Given the description of an element on the screen output the (x, y) to click on. 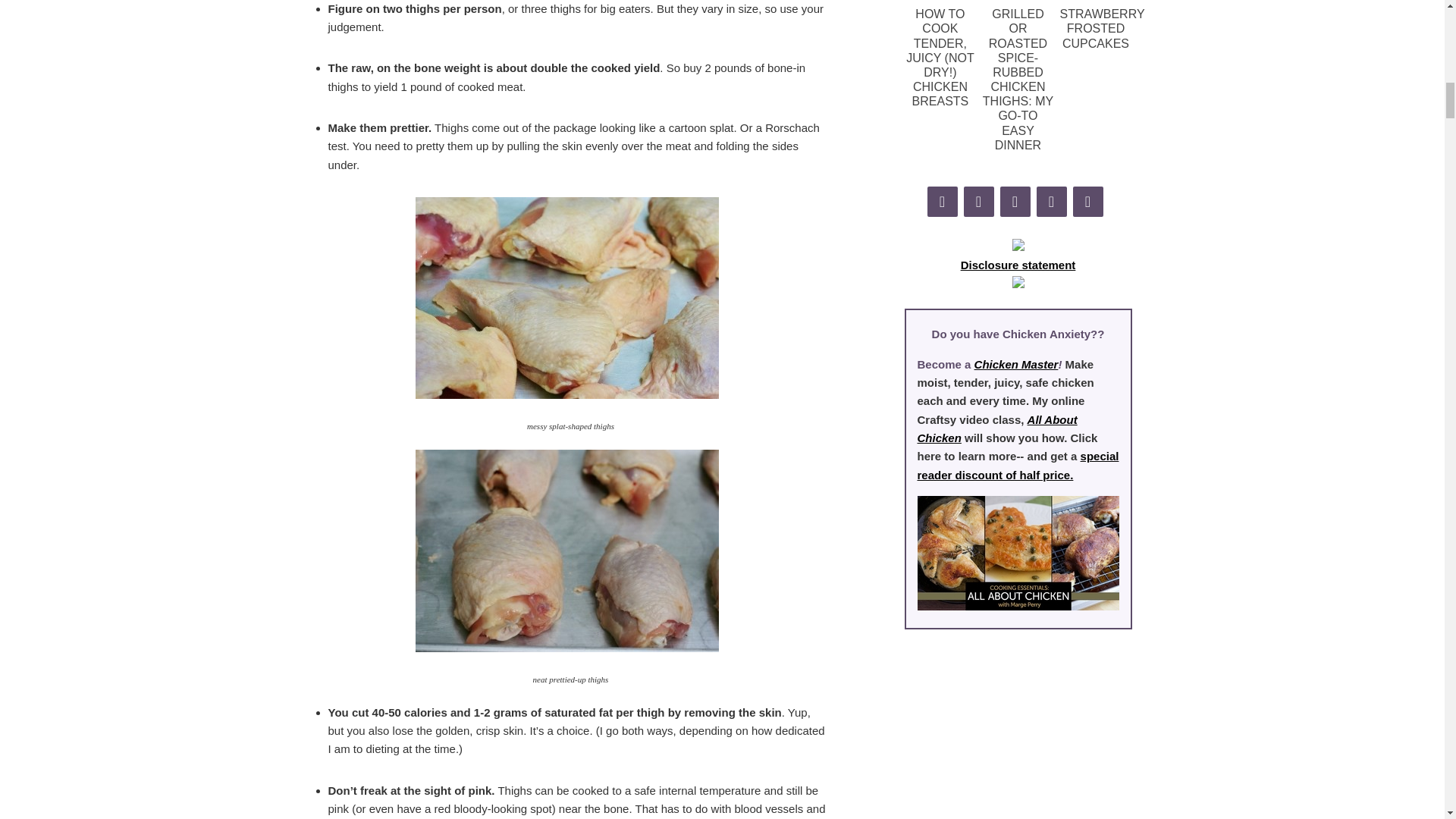
neat prettied-up thighs  (566, 550)
Facebook (941, 201)
messy splat-shaped thighs  (566, 297)
